Given the description of an element on the screen output the (x, y) to click on. 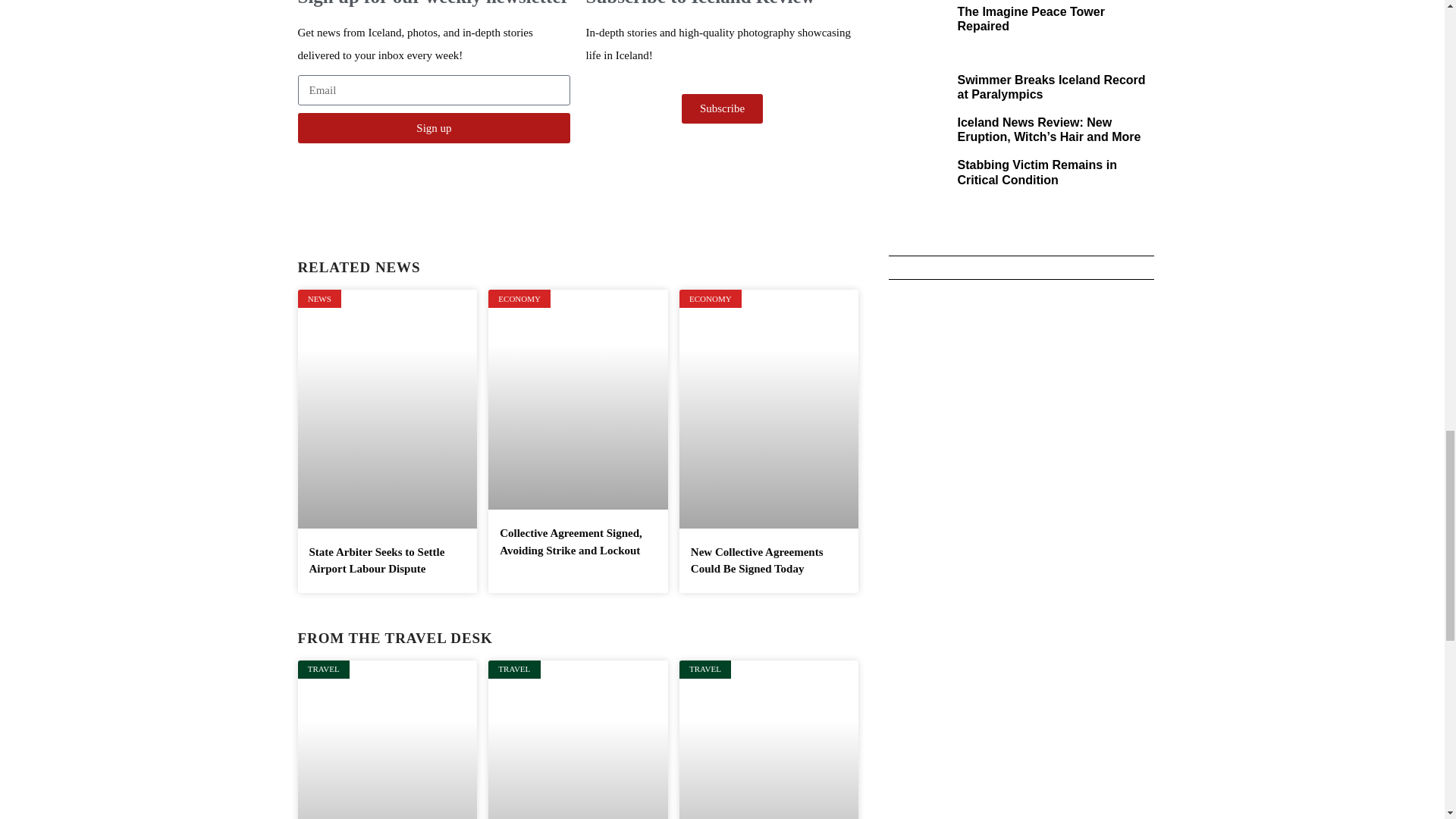
Swimmer Breaks Iceland Record at Paralympics (1050, 86)
Stabbing Victim Remains in Critical Condition (1036, 171)
The Imagine Peace Tower Repaired (1029, 18)
